Given the description of an element on the screen output the (x, y) to click on. 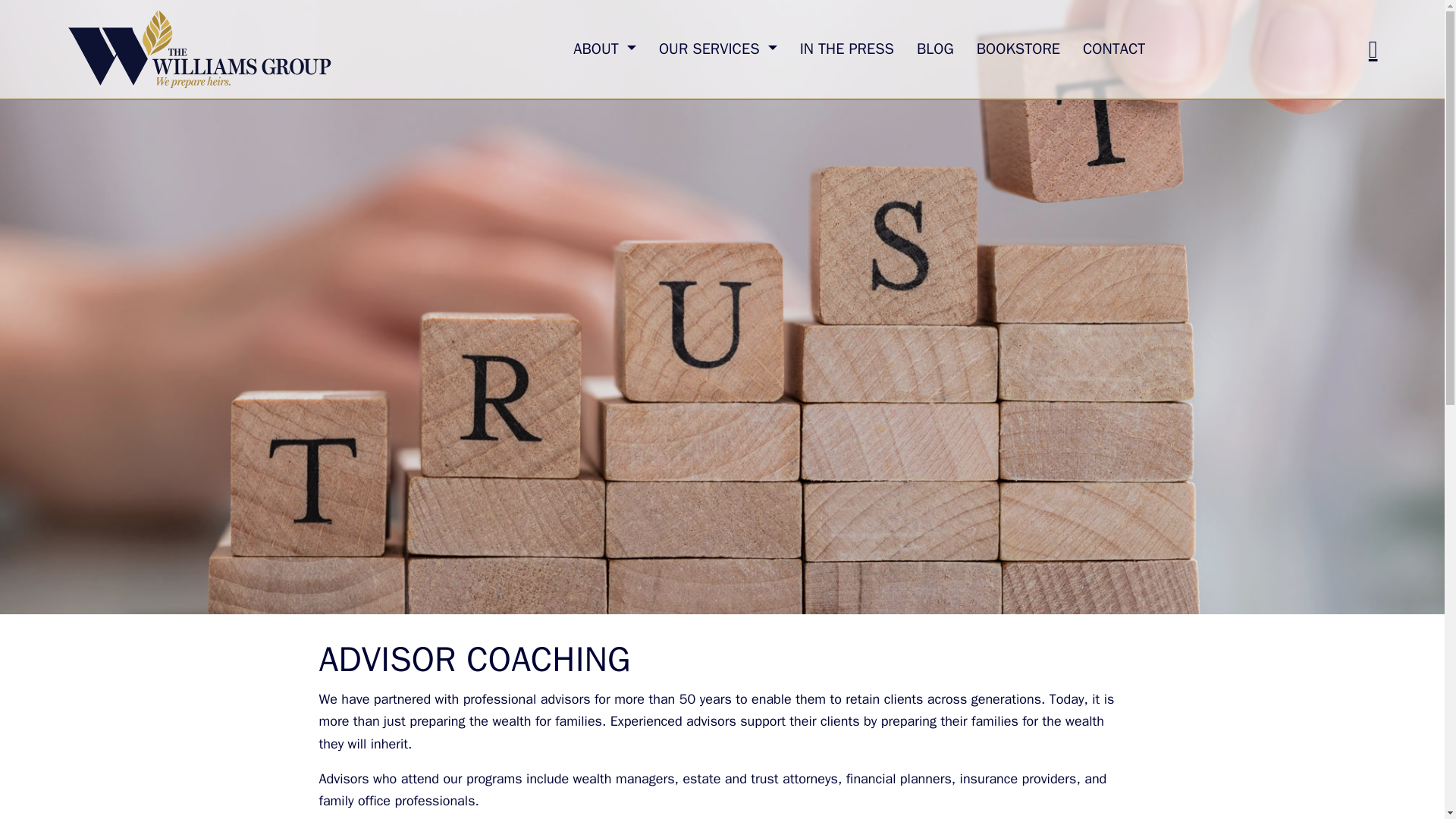
About (604, 48)
Our Services (718, 48)
ABOUT (604, 48)
BLOG (935, 48)
CONTACT (1113, 48)
Williams Group (263, 49)
IN THE PRESS (847, 48)
OUR SERVICES (718, 48)
BOOKSTORE (1018, 48)
